Given the description of an element on the screen output the (x, y) to click on. 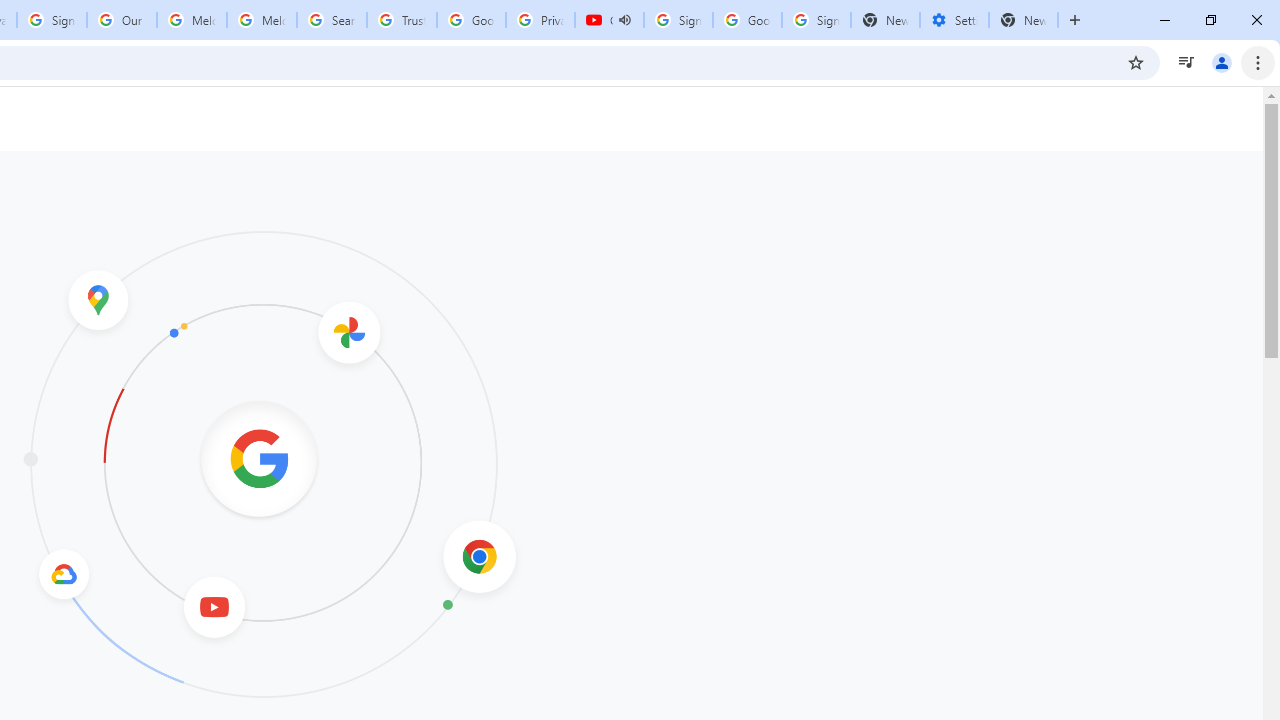
New Tab (1023, 20)
Search our Doodle Library Collection - Google Doodles (332, 20)
Google Ads - Sign in (470, 20)
Sign in - Google Accounts (51, 20)
